Given the description of an element on the screen output the (x, y) to click on. 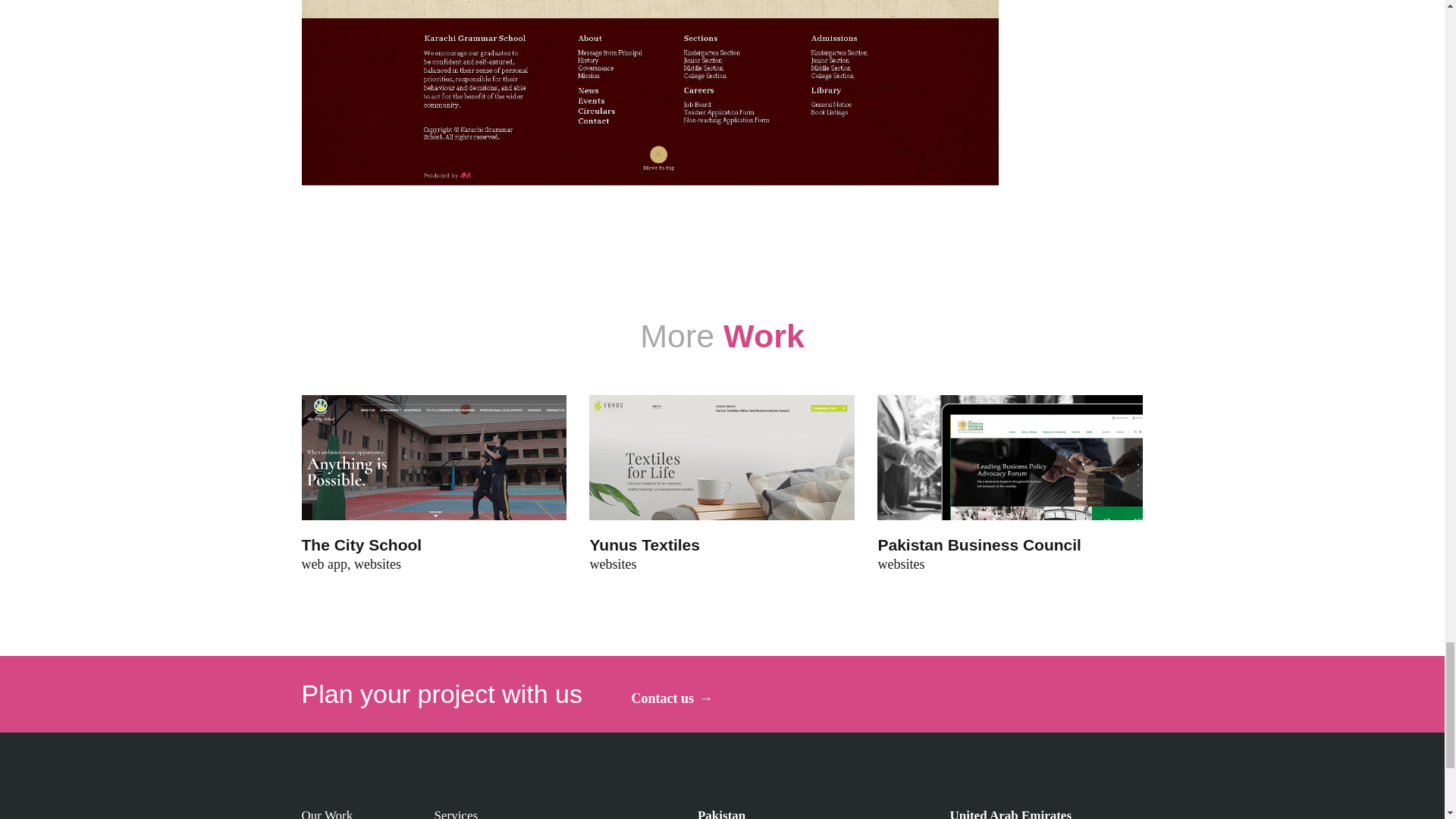
The City School (369, 544)
Pakistan Business Council (986, 544)
Contact us (671, 698)
Our Work (327, 813)
Services (455, 813)
Yunus Textiles (652, 544)
